Given the description of an element on the screen output the (x, y) to click on. 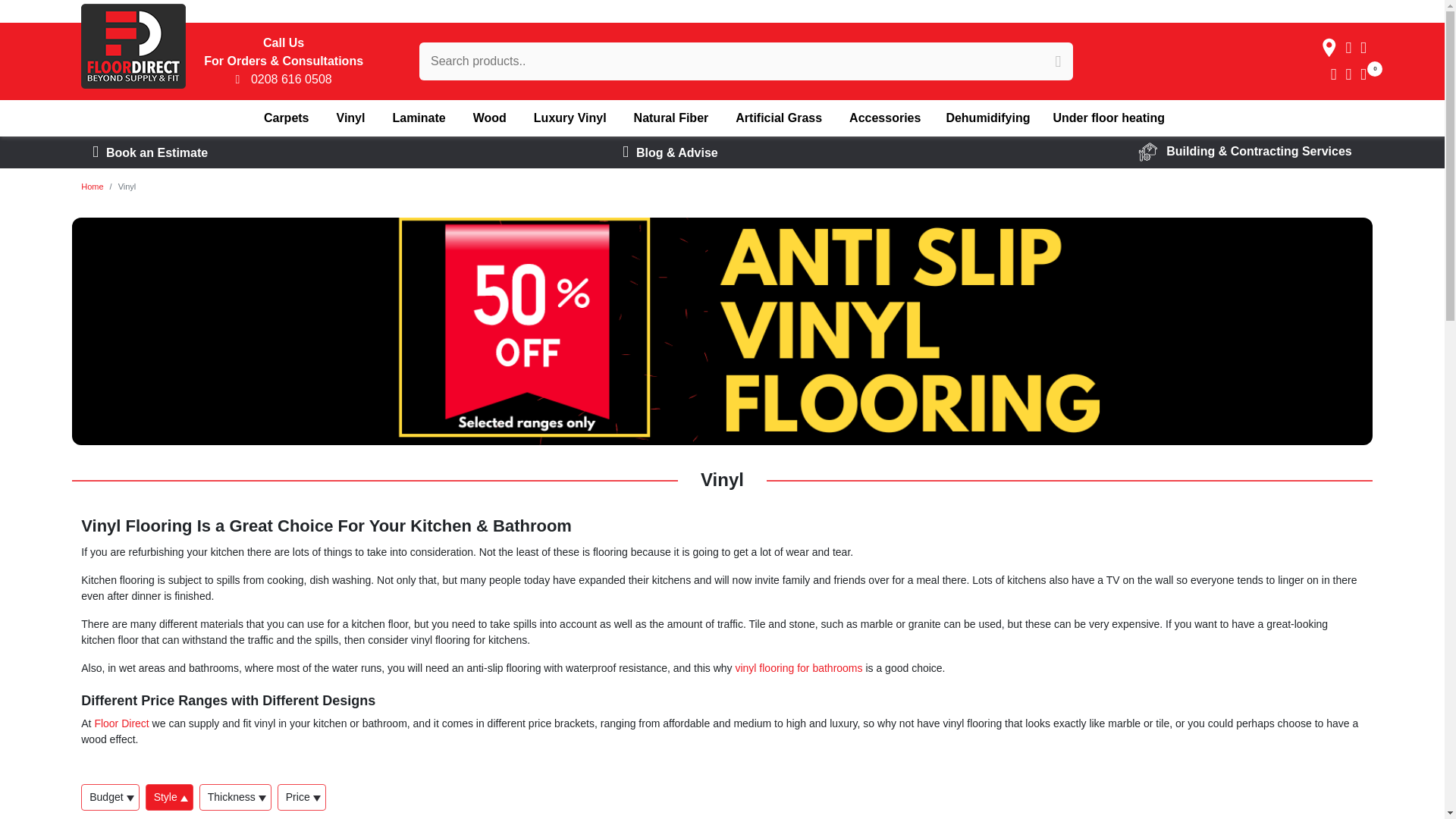
Carpets (286, 117)
0208 616 0508 (282, 79)
0 (1364, 74)
